Given the description of an element on the screen output the (x, y) to click on. 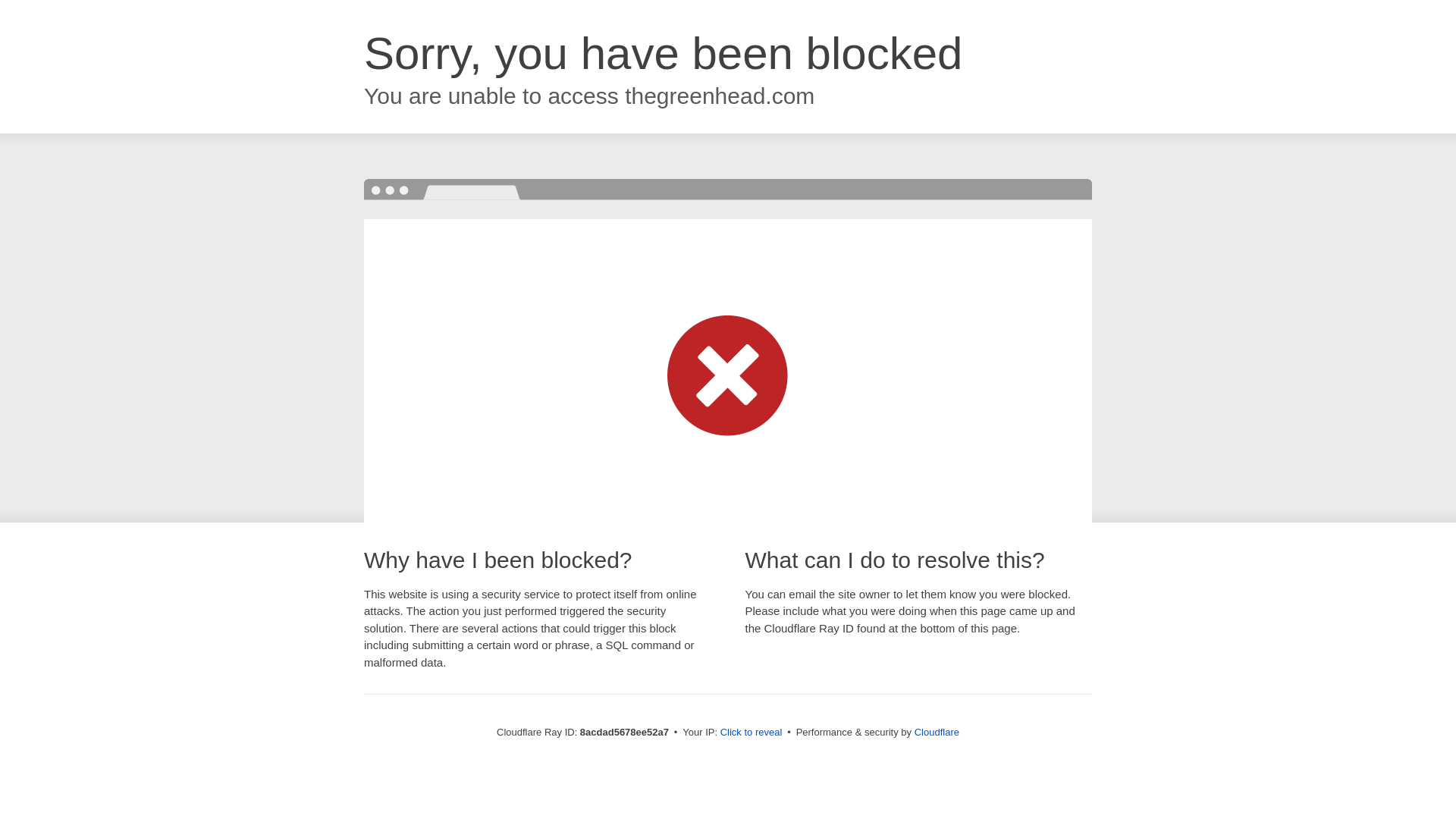
Cloudflare (936, 731)
Click to reveal (751, 732)
